Given the description of an element on the screen output the (x, y) to click on. 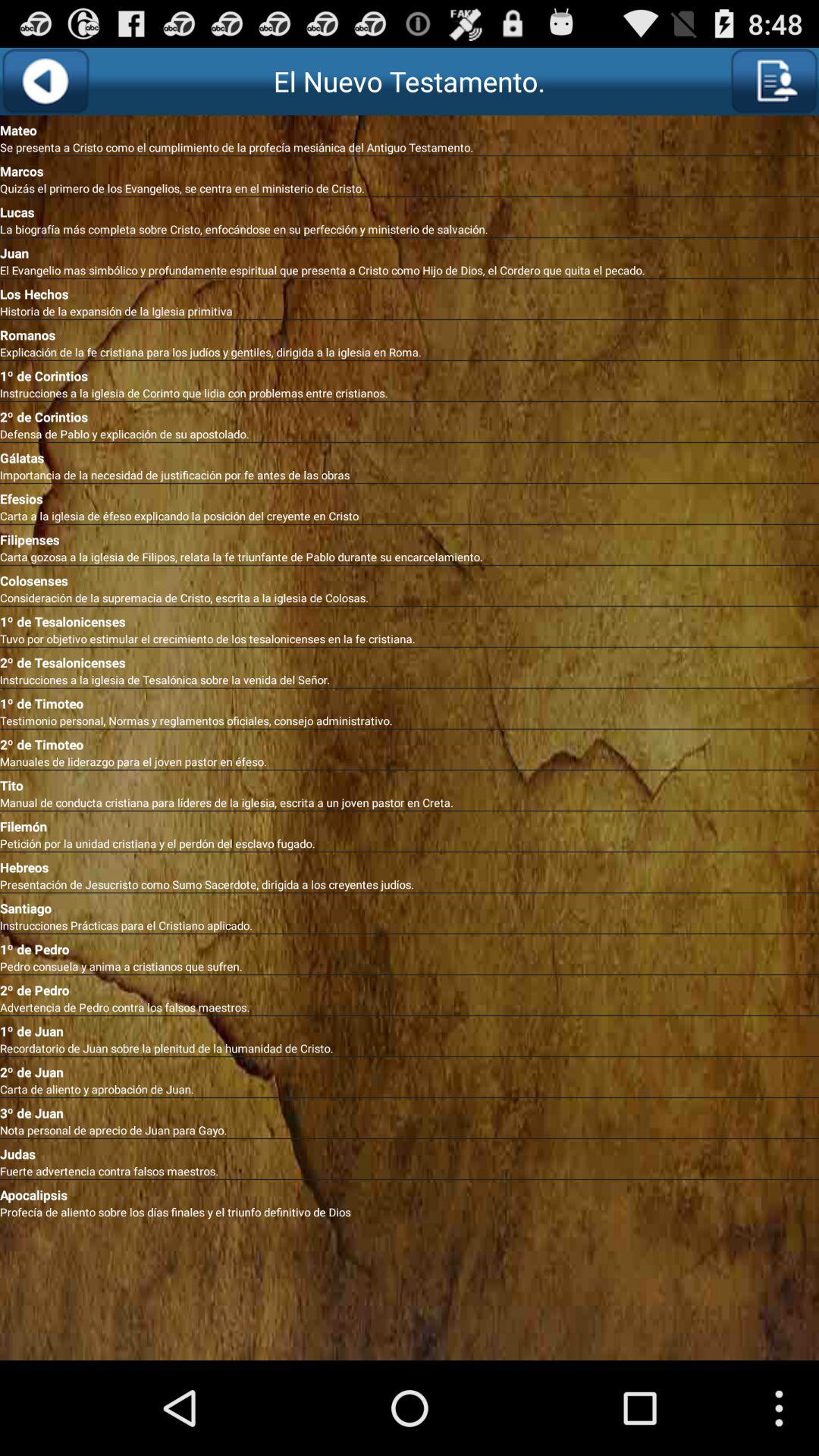
click the app above the carta a la item (409, 495)
